Given the description of an element on the screen output the (x, y) to click on. 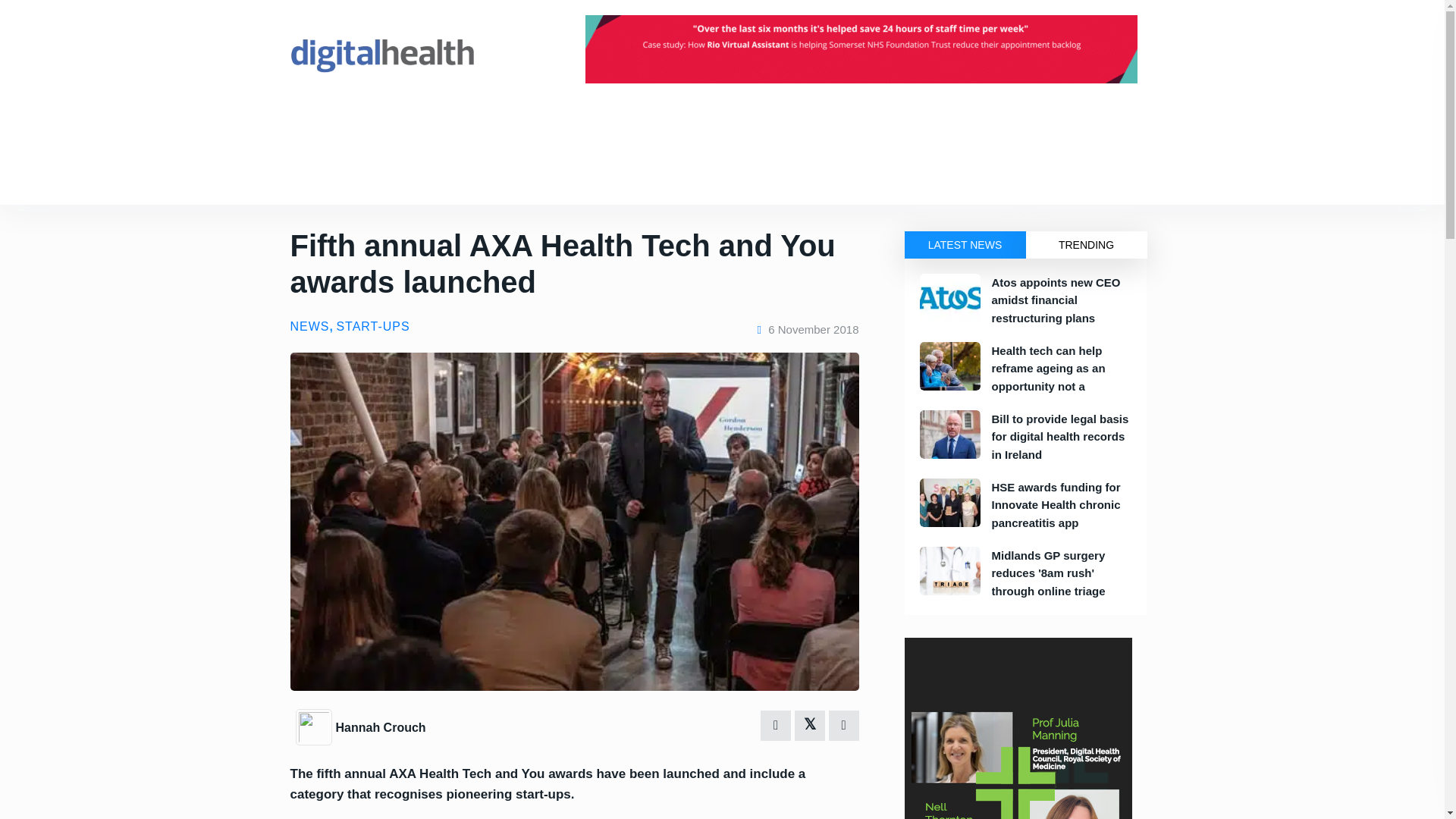
Events (382, 124)
Networks (517, 124)
Special Reports (578, 177)
Hannah Crouch (315, 725)
Podcast (502, 177)
Intelligence (446, 124)
Case Studies (431, 177)
Webinars (658, 177)
Opinion (361, 177)
News (330, 124)
Hannah Crouch (379, 727)
About Us (584, 124)
Topics (305, 177)
